Given the description of an element on the screen output the (x, y) to click on. 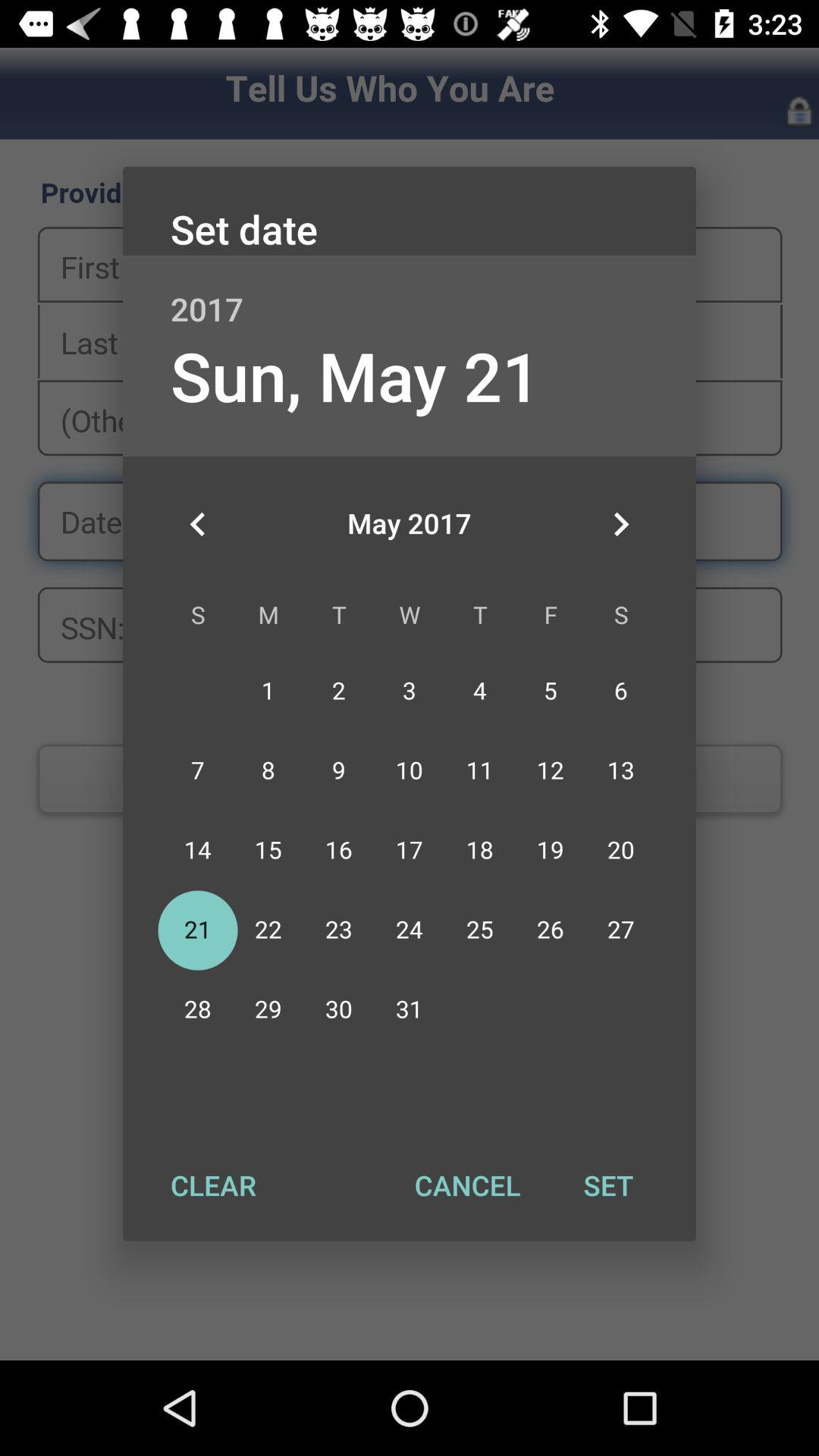
turn off icon to the right of the clear (467, 1185)
